Given the description of an element on the screen output the (x, y) to click on. 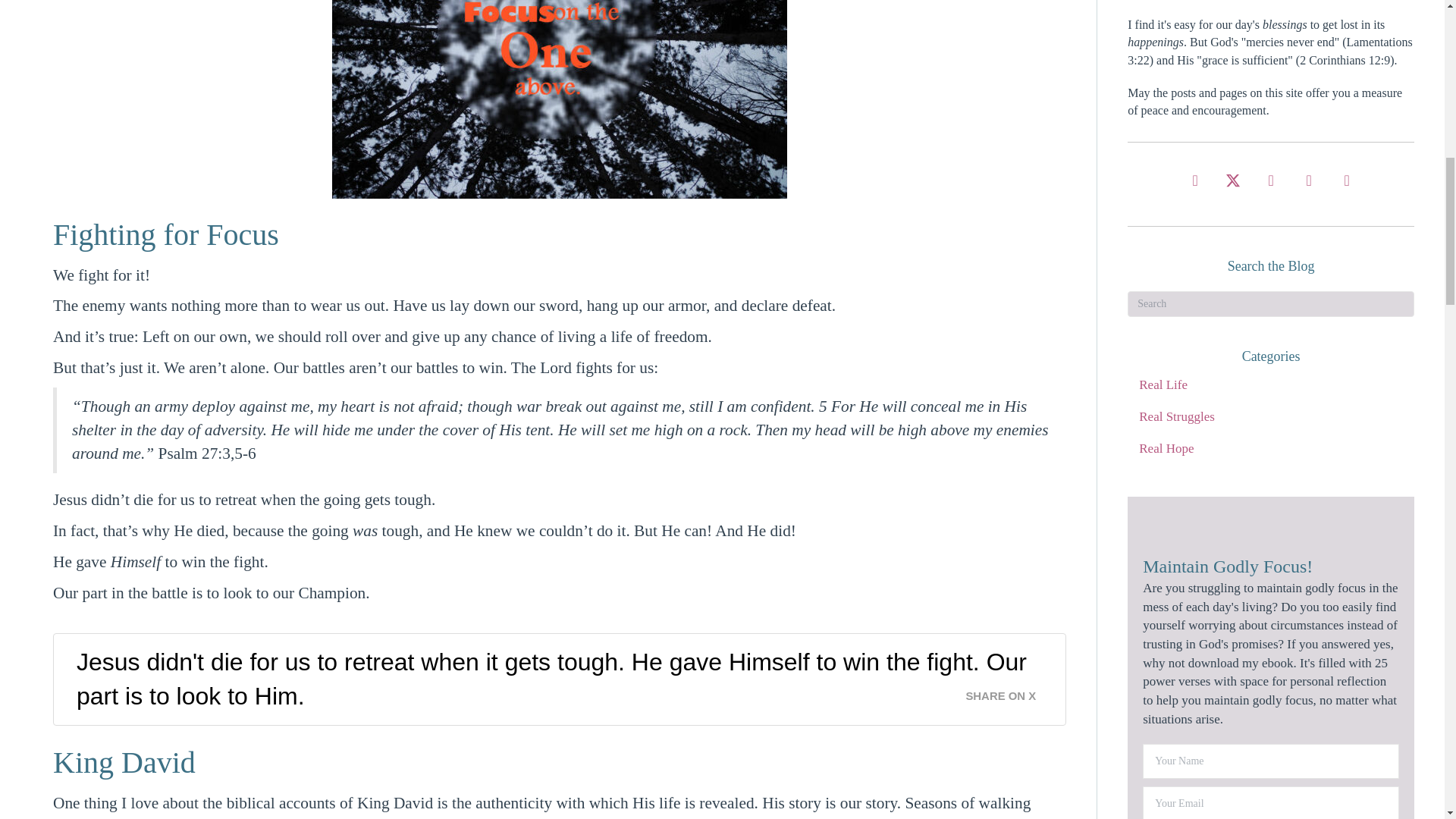
Instagram (1270, 180)
Pinterest (1308, 180)
LinkedIn (1346, 180)
Type and press Enter to search. (1269, 303)
SHARE ON X (1009, 691)
Facebook (1194, 180)
